Given the description of an element on the screen output the (x, y) to click on. 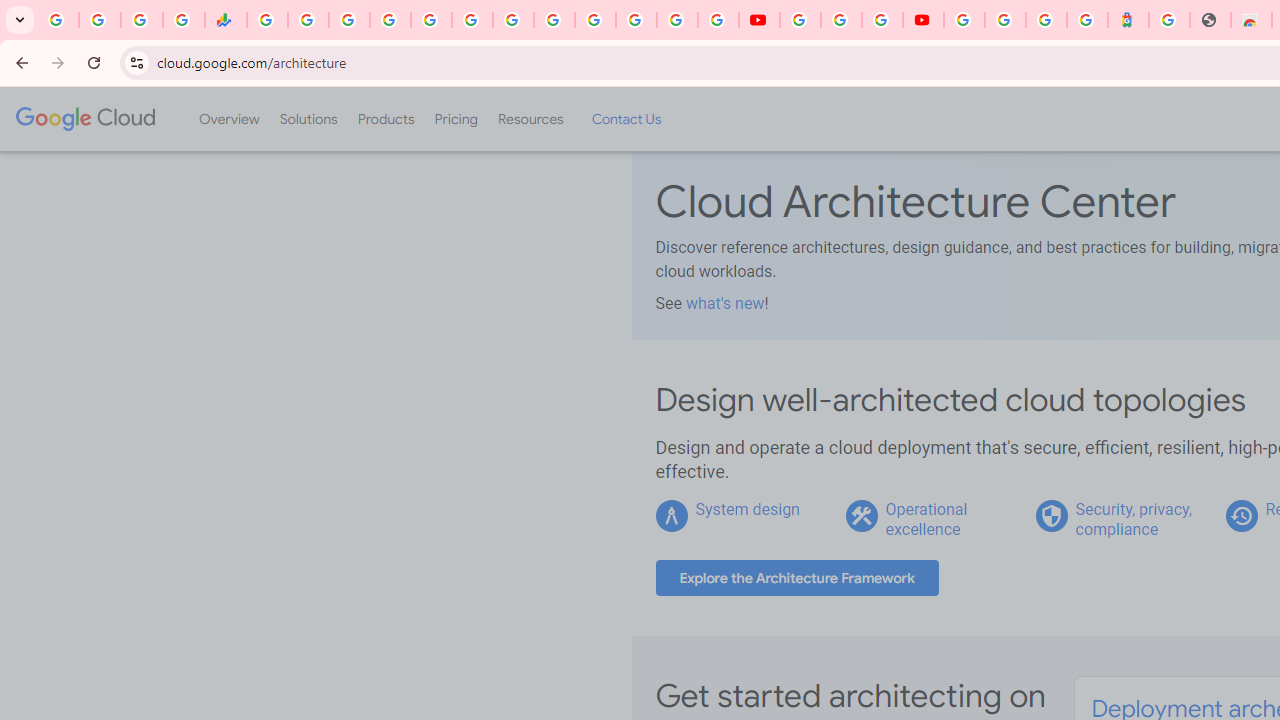
Sign in - Google Accounts (594, 20)
Create your Google Account (881, 20)
YouTube (553, 20)
Resources (530, 119)
YouTube (799, 20)
Security, privacy, compliance (1133, 519)
System design (747, 509)
